Given the description of an element on the screen output the (x, y) to click on. 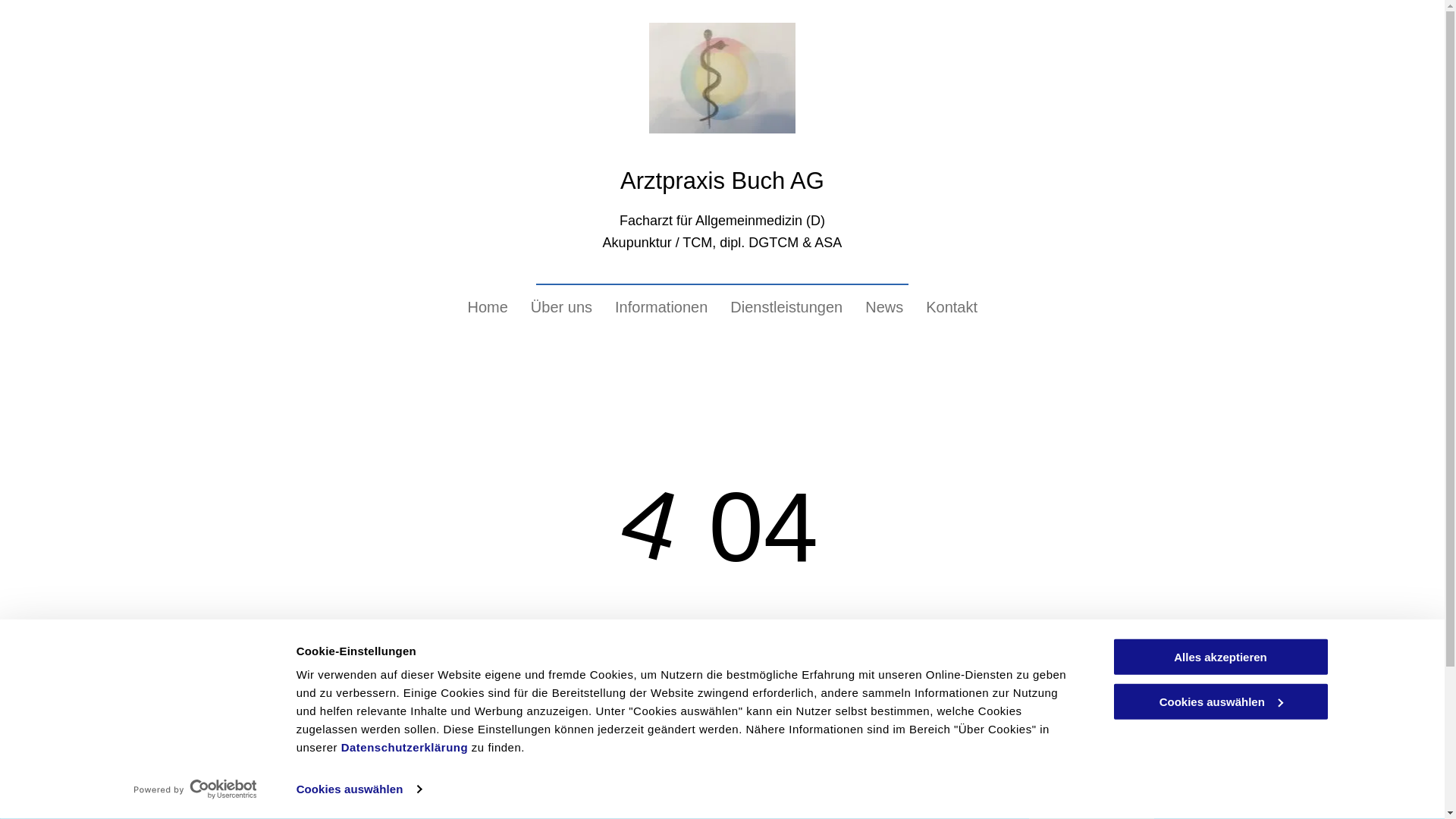
Alles akzeptieren Element type: text (1219, 656)
Kontakt Element type: text (951, 307)
Dienstleistungen Element type: text (785, 307)
News Element type: text (883, 307)
Zur Startseite Element type: text (721, 705)
Informationen Element type: text (660, 307)
Home Element type: text (487, 307)
